Given the description of an element on the screen output the (x, y) to click on. 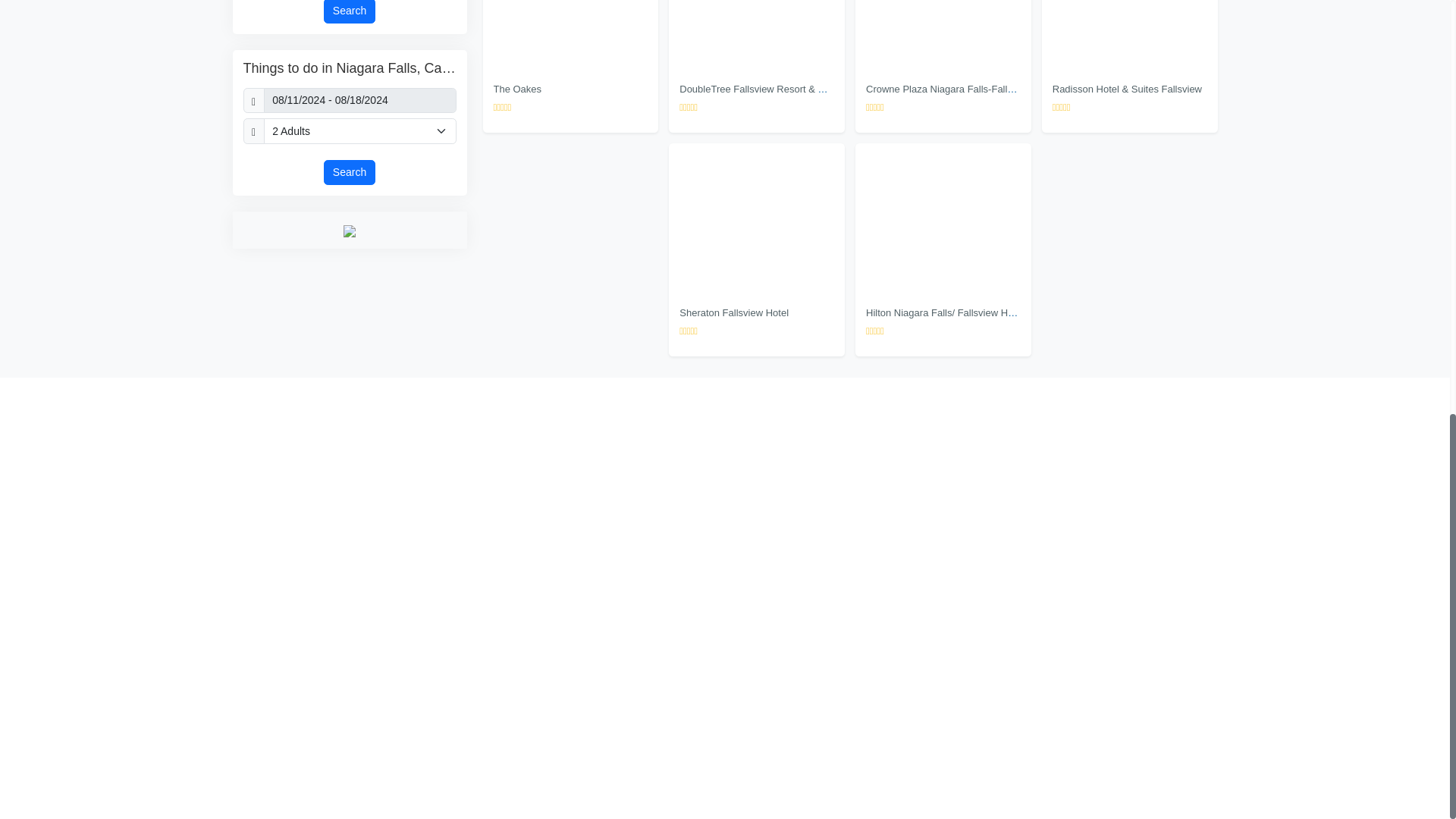
The Oakes (569, 35)
bird, waterfall, niagara falls (340, 498)
Crowne Plaza Niagara Falls-Fallsview (943, 35)
niagara falls, waterfall, water power (1163, 654)
Sheraton Fallsview Hotel (756, 218)
